Given the description of an element on the screen output the (x, y) to click on. 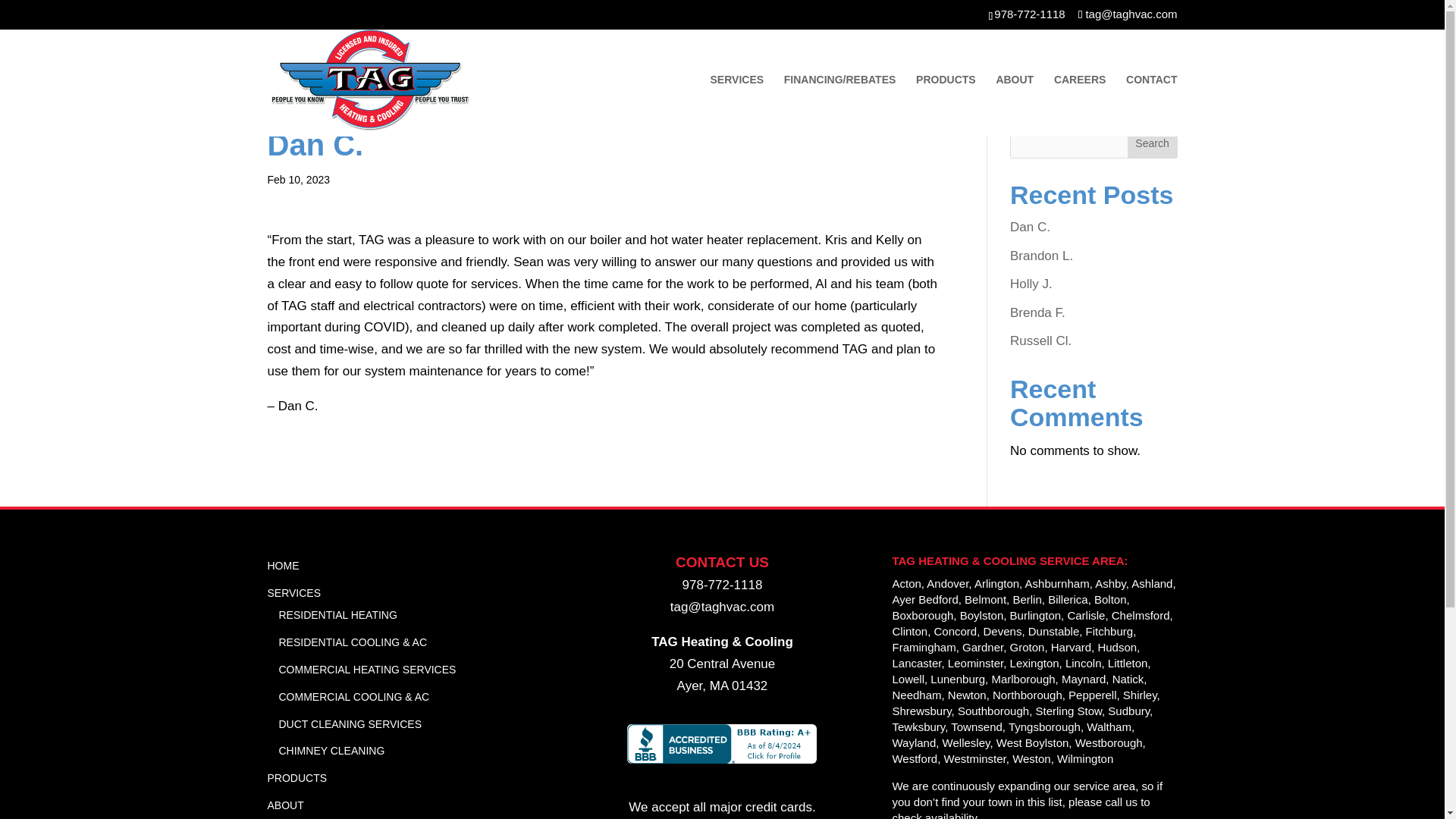
PRODUCTS (296, 777)
Russell Cl. (1040, 340)
Brenda F. (1037, 312)
978-772-1118 (722, 585)
978-772-1118 (1029, 13)
SERVICES (293, 592)
RESIDENTIAL HEATING (338, 614)
CHIMNEY CLEANING (332, 750)
HOME (282, 565)
Dan C. (1029, 227)
COMMERCIAL HEATING SERVICES (368, 669)
Holly J. (1031, 283)
ABOUT (284, 805)
Search (1151, 142)
Brandon L. (1041, 255)
